Given the description of an element on the screen output the (x, y) to click on. 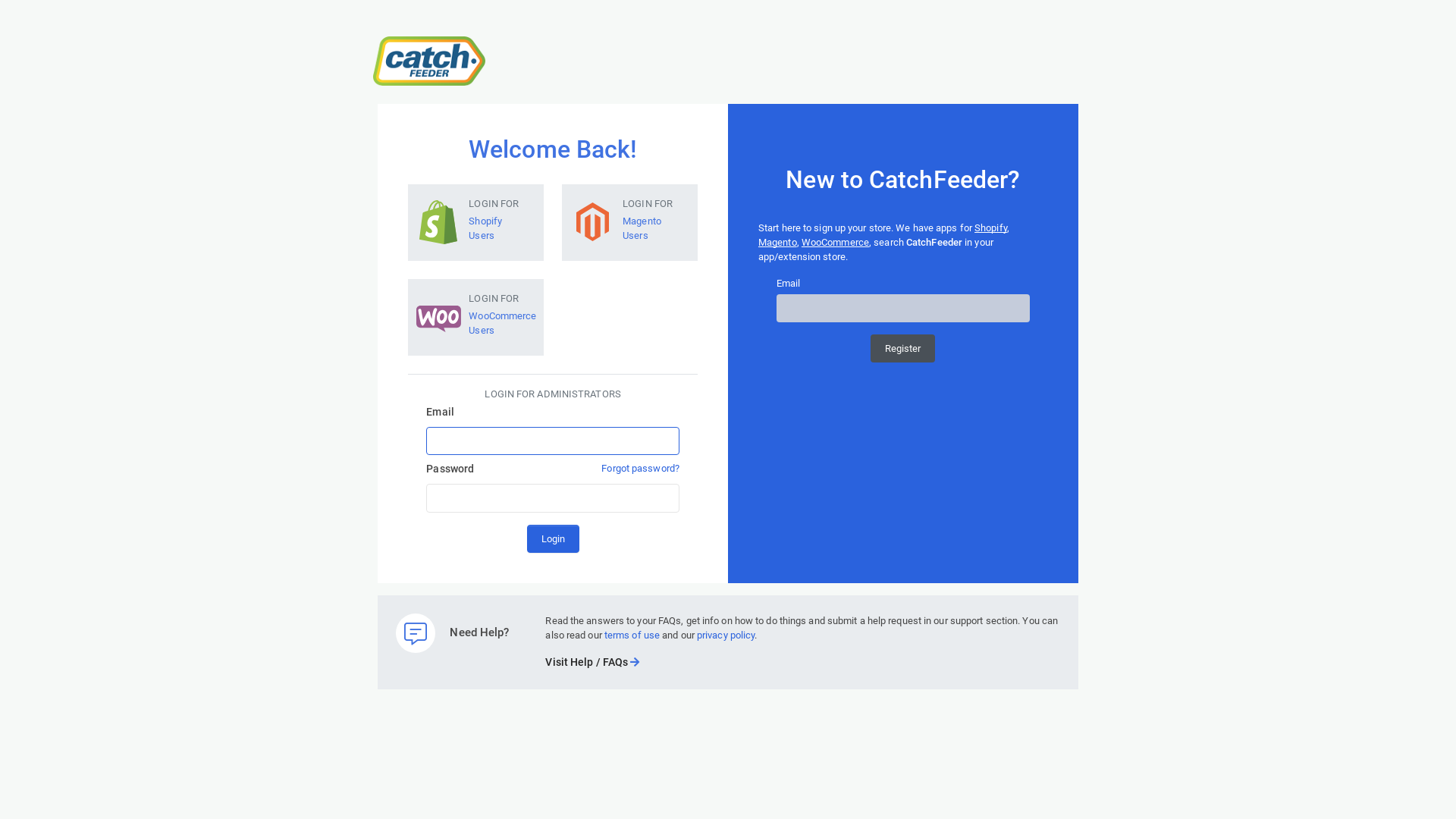
Shopify Element type: text (990, 227)
WooCommerce Element type: text (835, 241)
Login Element type: text (553, 538)
Register Element type: text (902, 348)
Visit Help / FAQs Element type: text (592, 661)
LOGIN FOR
Shopify
Users Element type: text (475, 219)
privacy policy Element type: text (725, 634)
terms of use Element type: text (631, 634)
Magento Element type: text (777, 241)
Forgot password? Element type: text (640, 468)
